Given the description of an element on the screen output the (x, y) to click on. 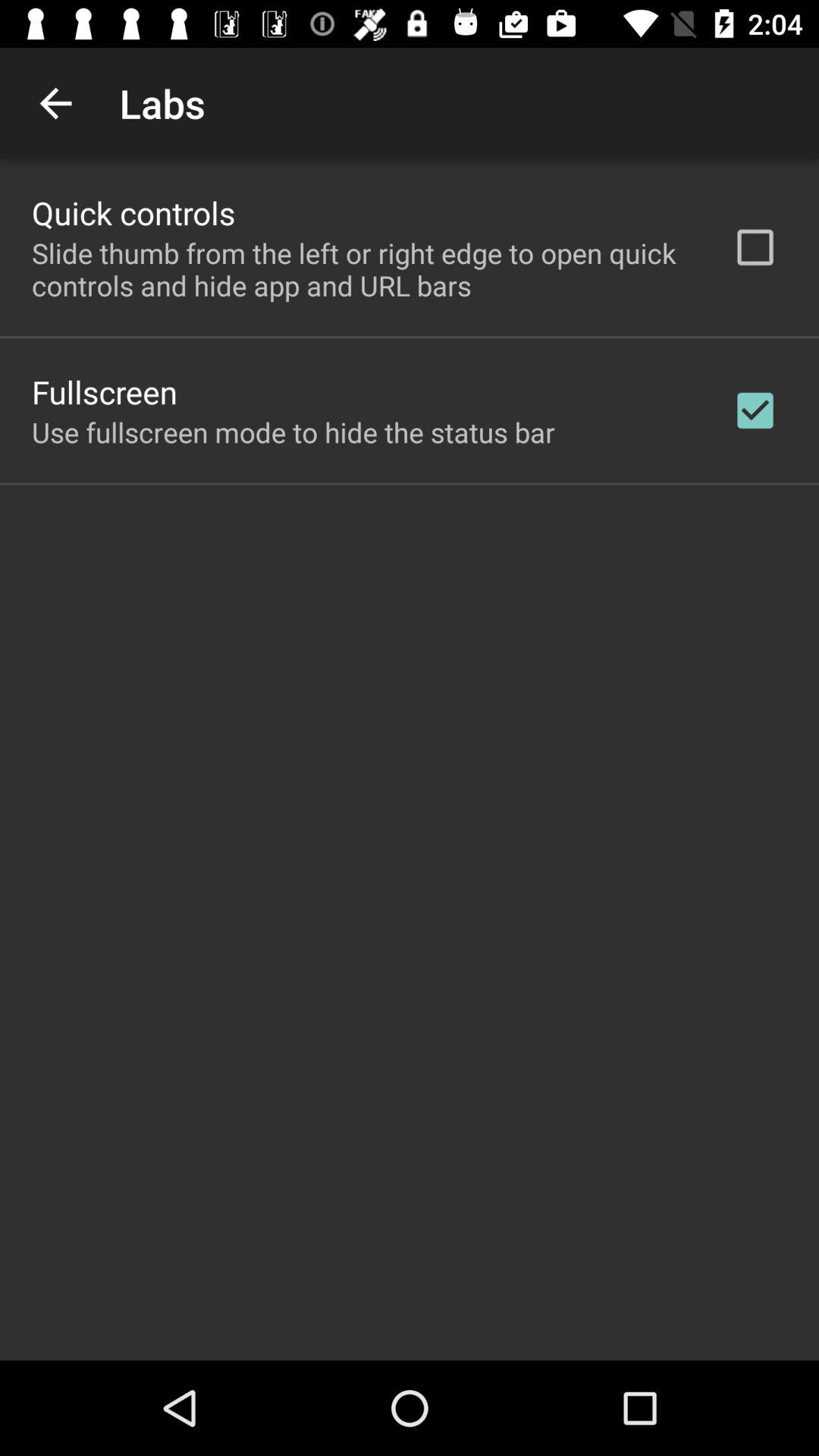
launch the icon below fullscreen app (293, 432)
